Given the description of an element on the screen output the (x, y) to click on. 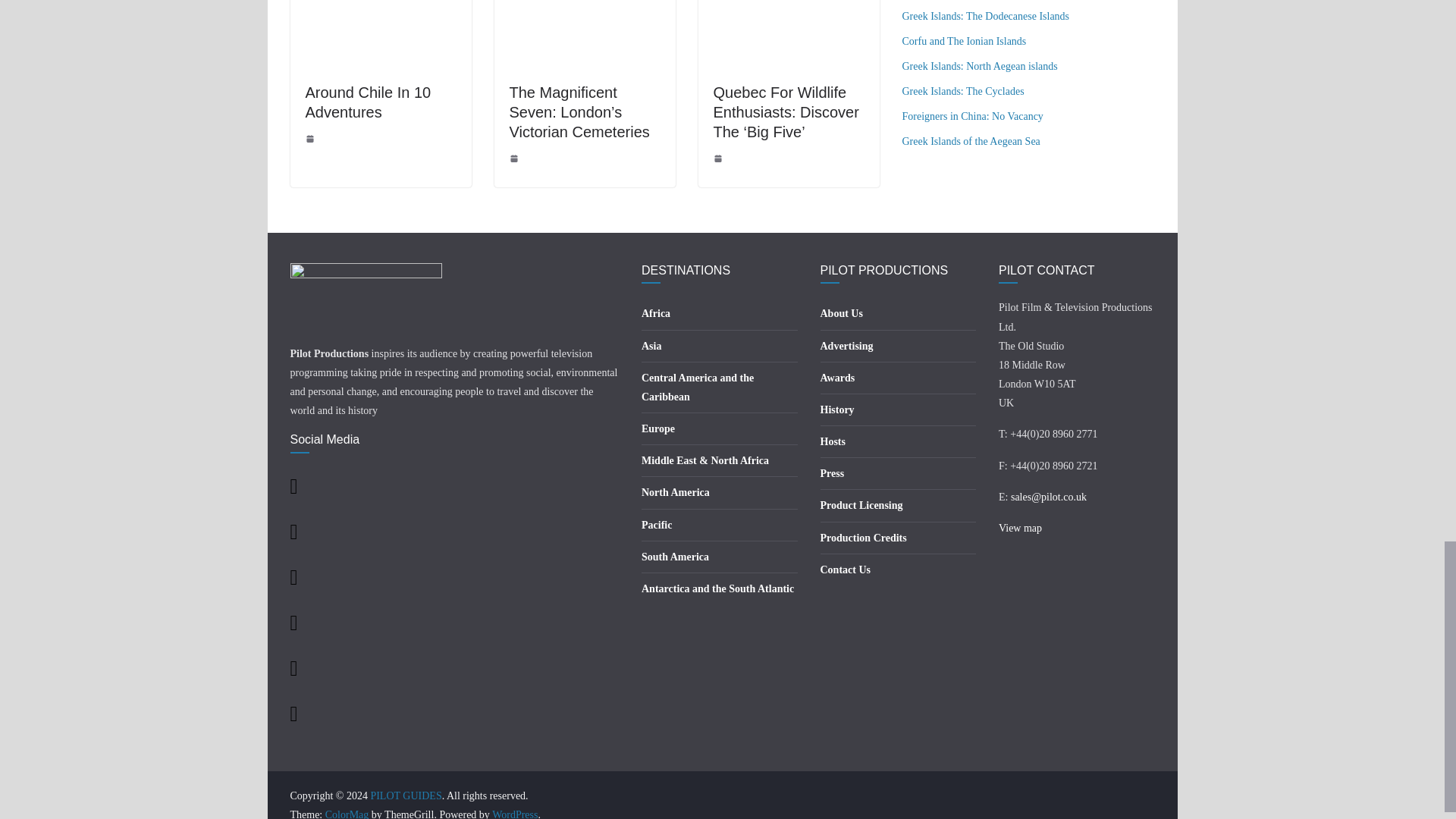
Around Chile In 10 Adventures (367, 102)
